Given the description of an element on the screen output the (x, y) to click on. 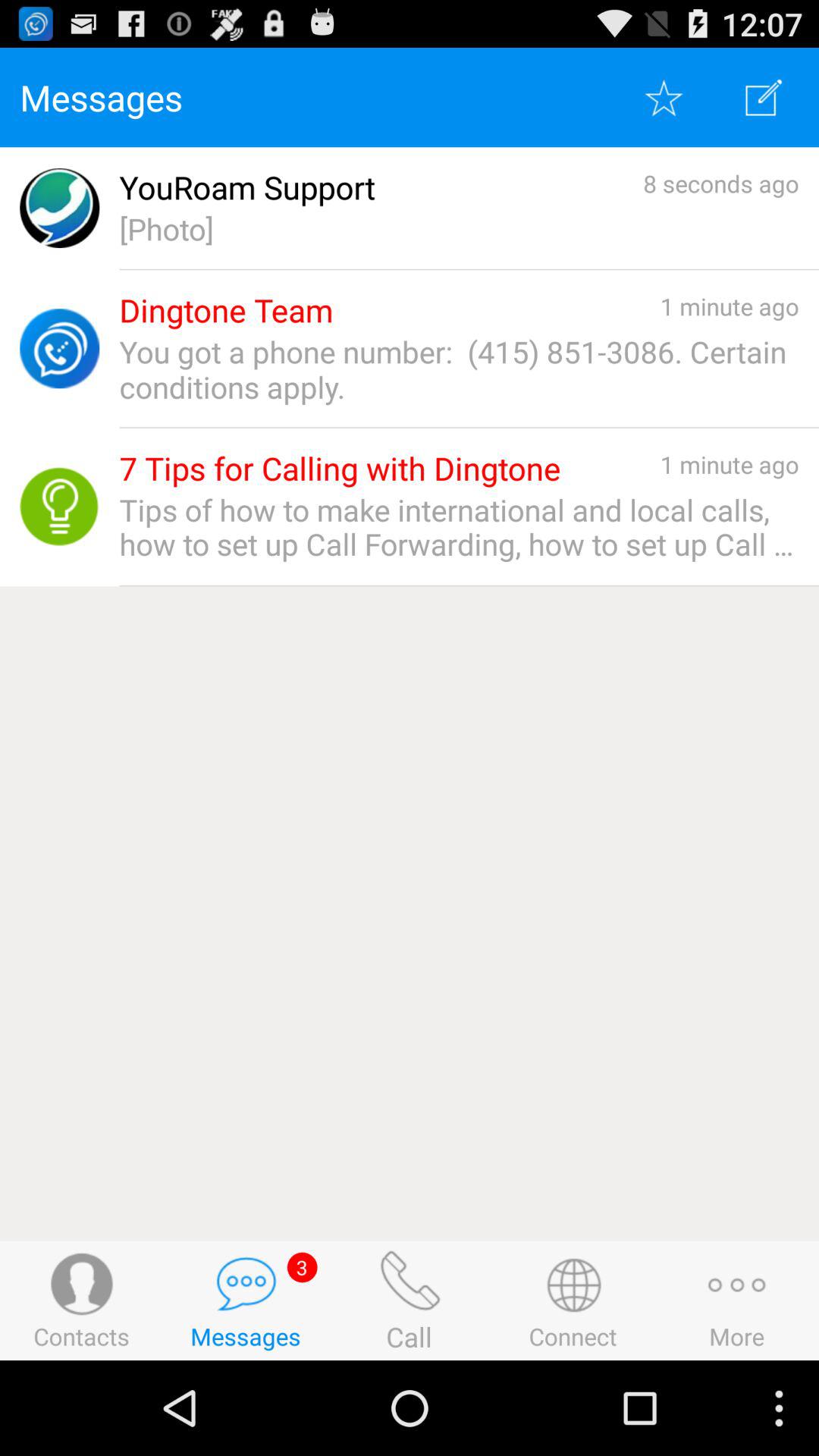
jump until the 7 tips for app (339, 468)
